Given the description of an element on the screen output the (x, y) to click on. 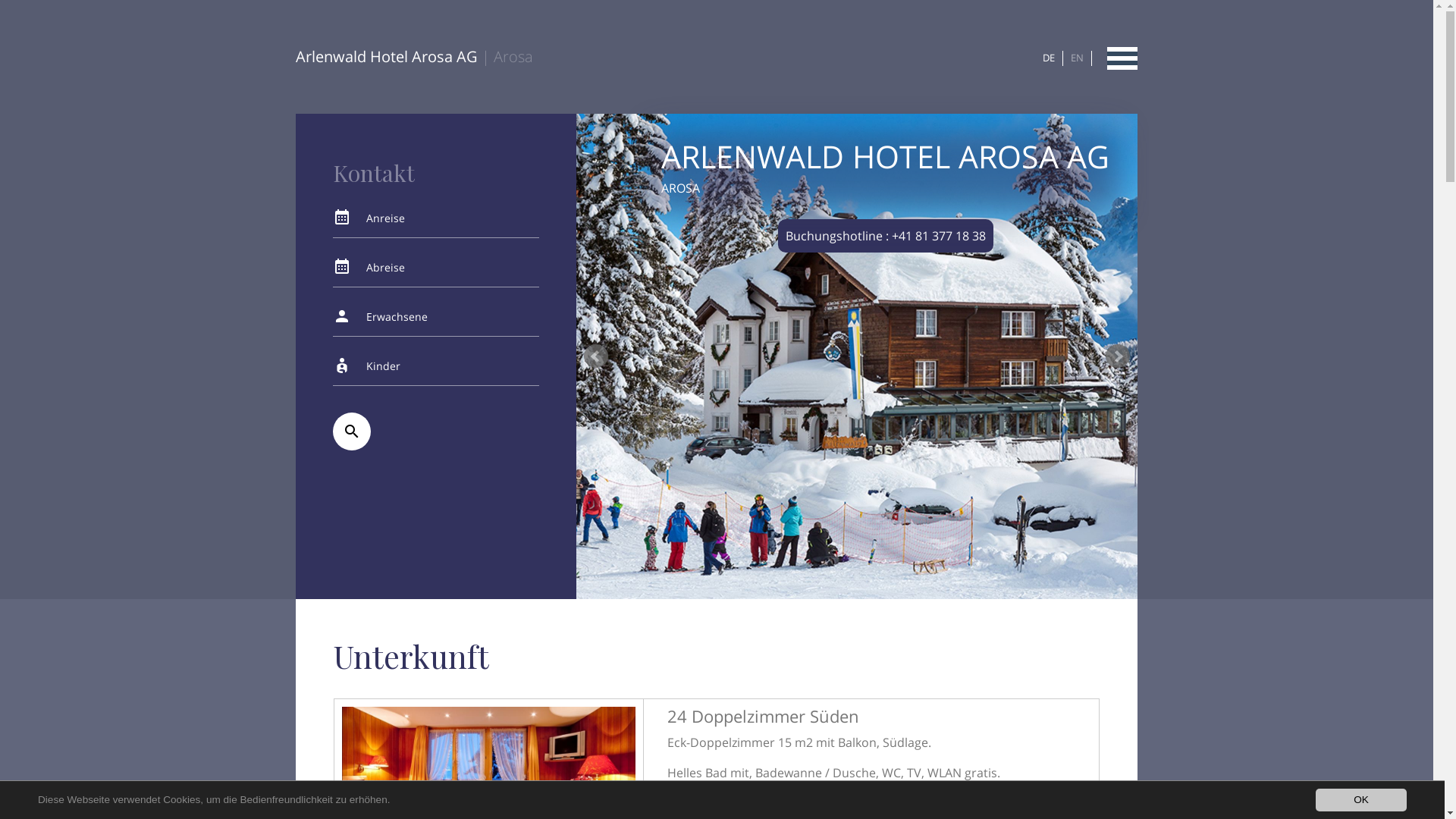
OK Element type: text (1360, 799)
Prev Element type: text (595, 356)
Buchungshotline : +41 81 377 18 38 Element type: text (885, 235)
EN Element type: text (1076, 57)
Next Element type: text (1117, 356)
